Given the description of an element on the screen output the (x, y) to click on. 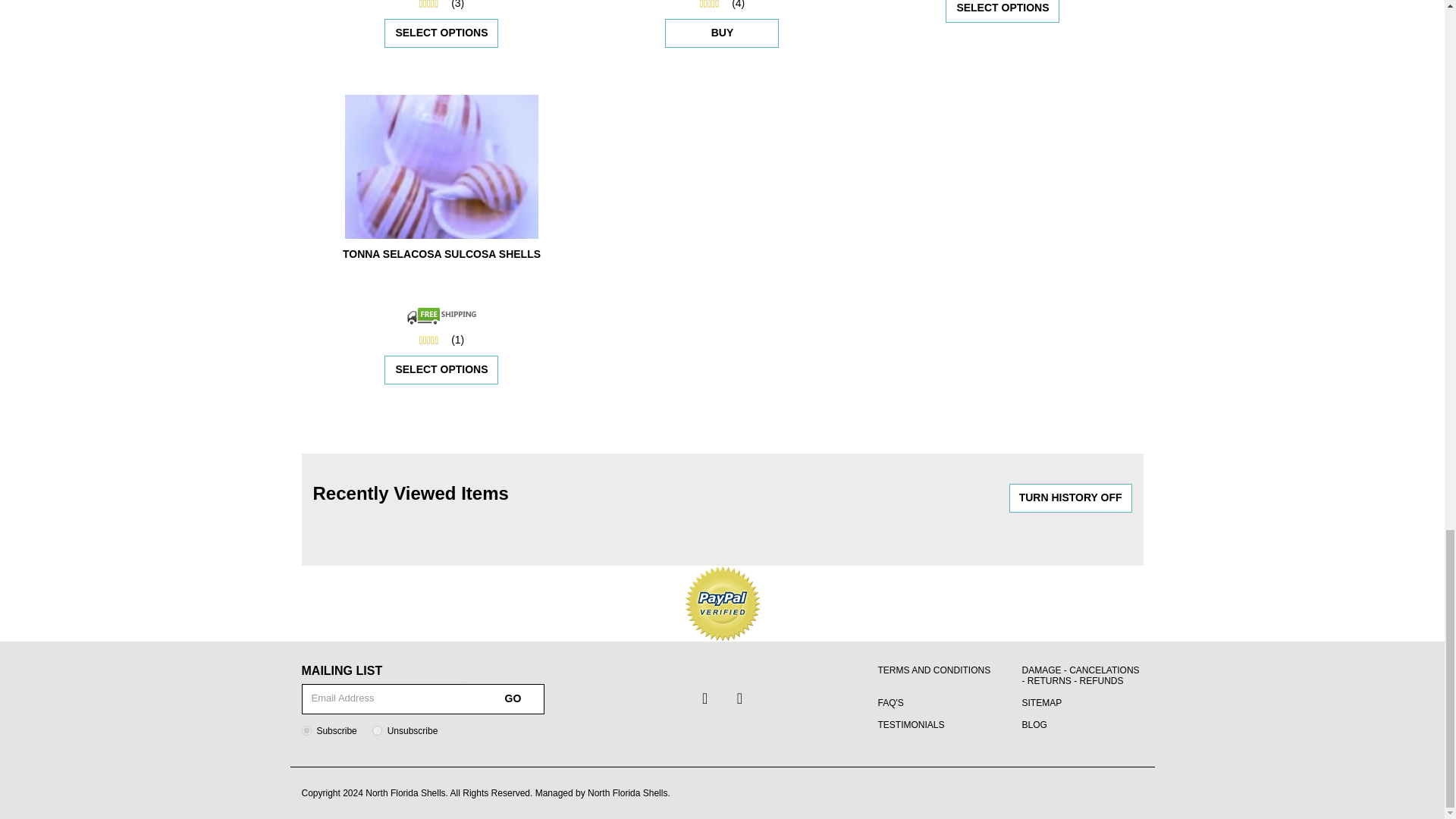
0 (376, 730)
1 (306, 730)
